Given the description of an element on the screen output the (x, y) to click on. 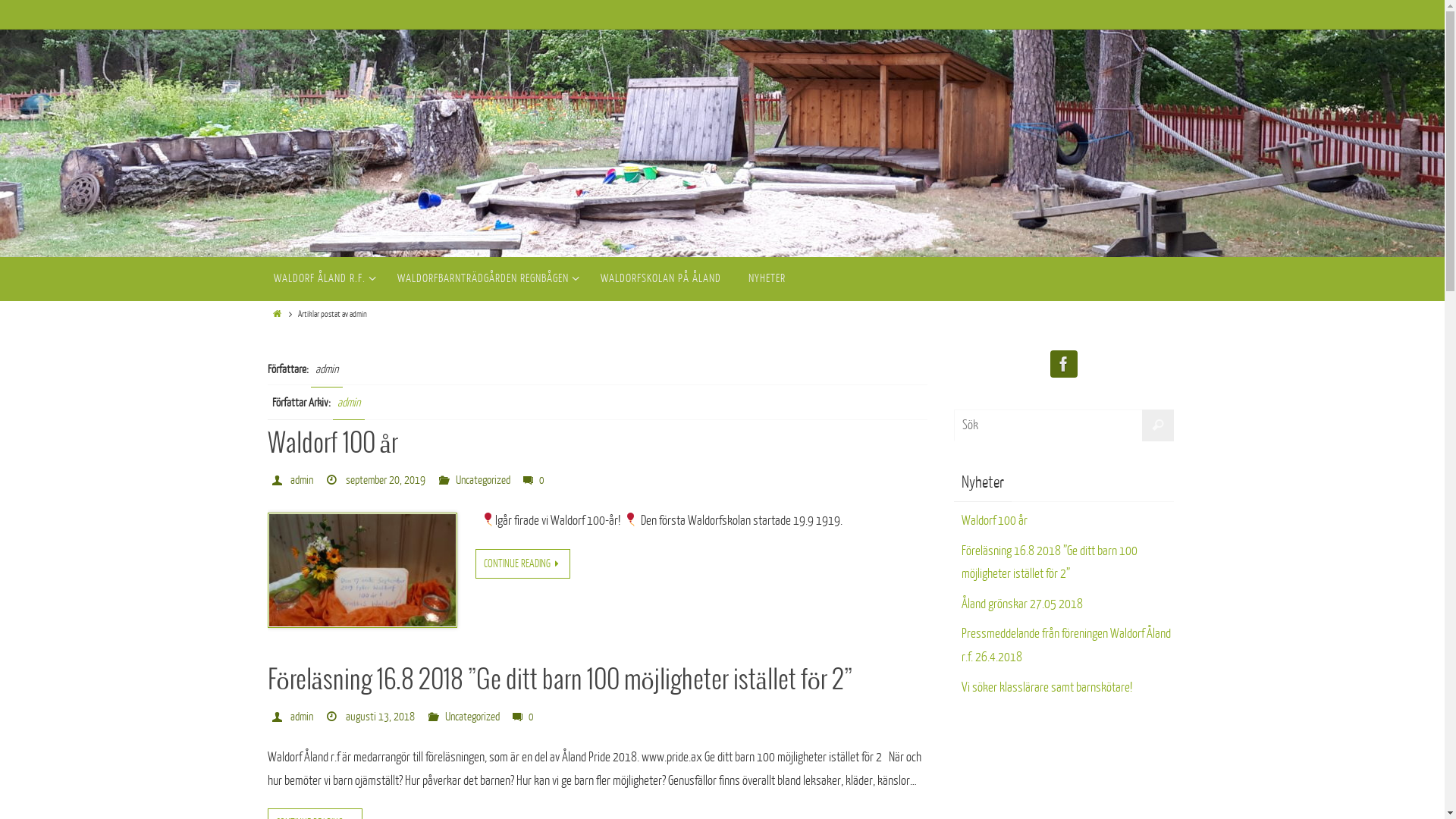
admin Element type: text (301, 717)
Leave a comment Element type: hover (530, 480)
NYHETER Element type: text (766, 279)
augusti 13, 2018 Element type: text (379, 717)
Kategorier Element type: hover (445, 479)
0 Element type: text (532, 480)
Facebook Element type: hover (1062, 368)
Datum Element type: hover (333, 479)
Datum Element type: hover (333, 716)
Uncategorized Element type: text (482, 480)
admin Element type: text (347, 402)
Leave a comment Element type: hover (520, 716)
Uncategorized Element type: text (472, 717)
september 20, 2019 Element type: text (385, 480)
CONTINUE READING Element type: text (522, 564)
admin Element type: text (301, 480)
0 Element type: text (522, 717)
Kategorier Element type: hover (435, 716)
